Given the description of an element on the screen output the (x, y) to click on. 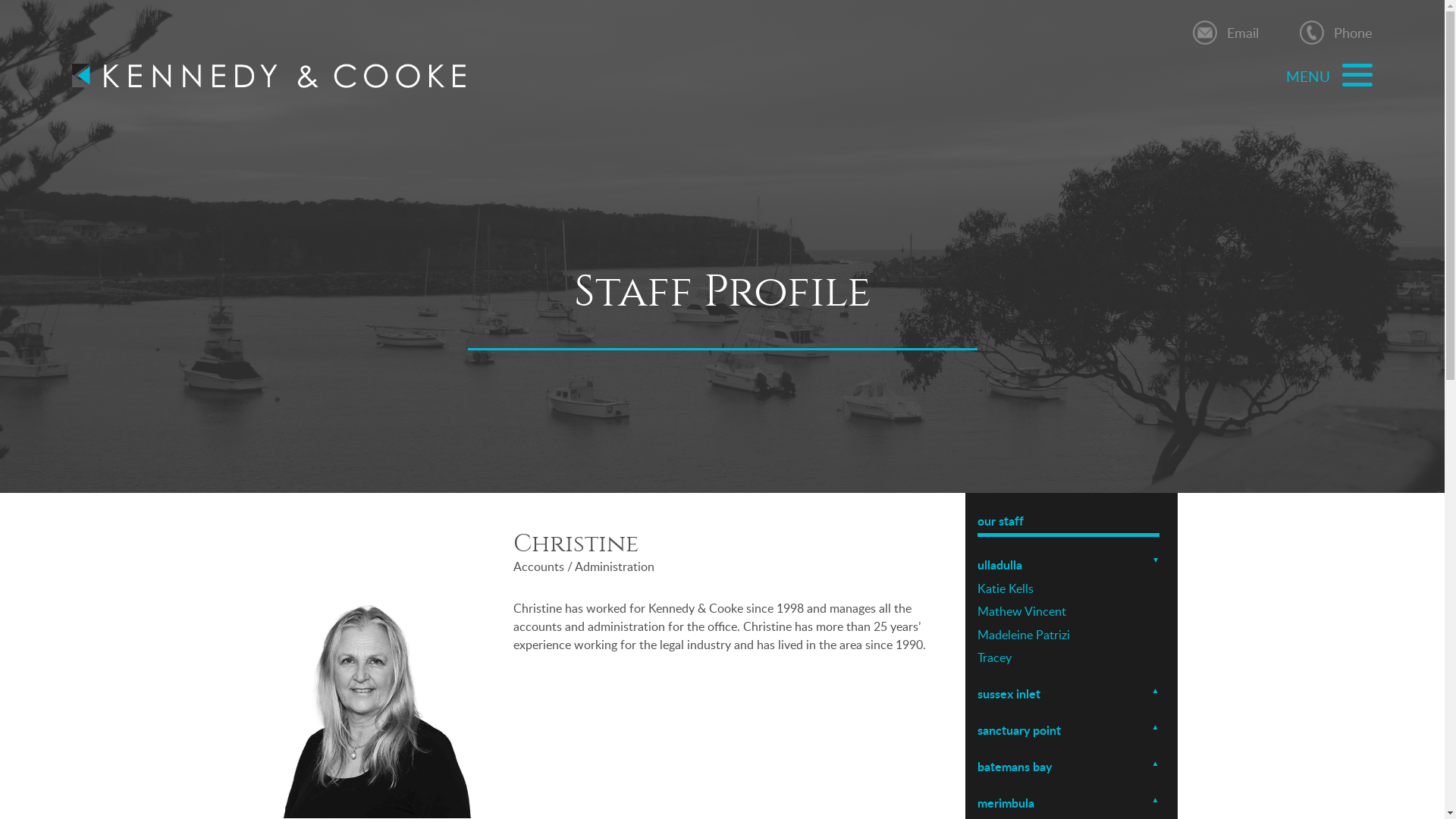
Madeleine Patrizi Element type: text (1067, 634)
Mathew Vincent Element type: text (1067, 610)
Katie Kells Element type: text (1067, 588)
Email Element type: text (1242, 32)
Tracey Element type: text (1067, 657)
